Given the description of an element on the screen output the (x, y) to click on. 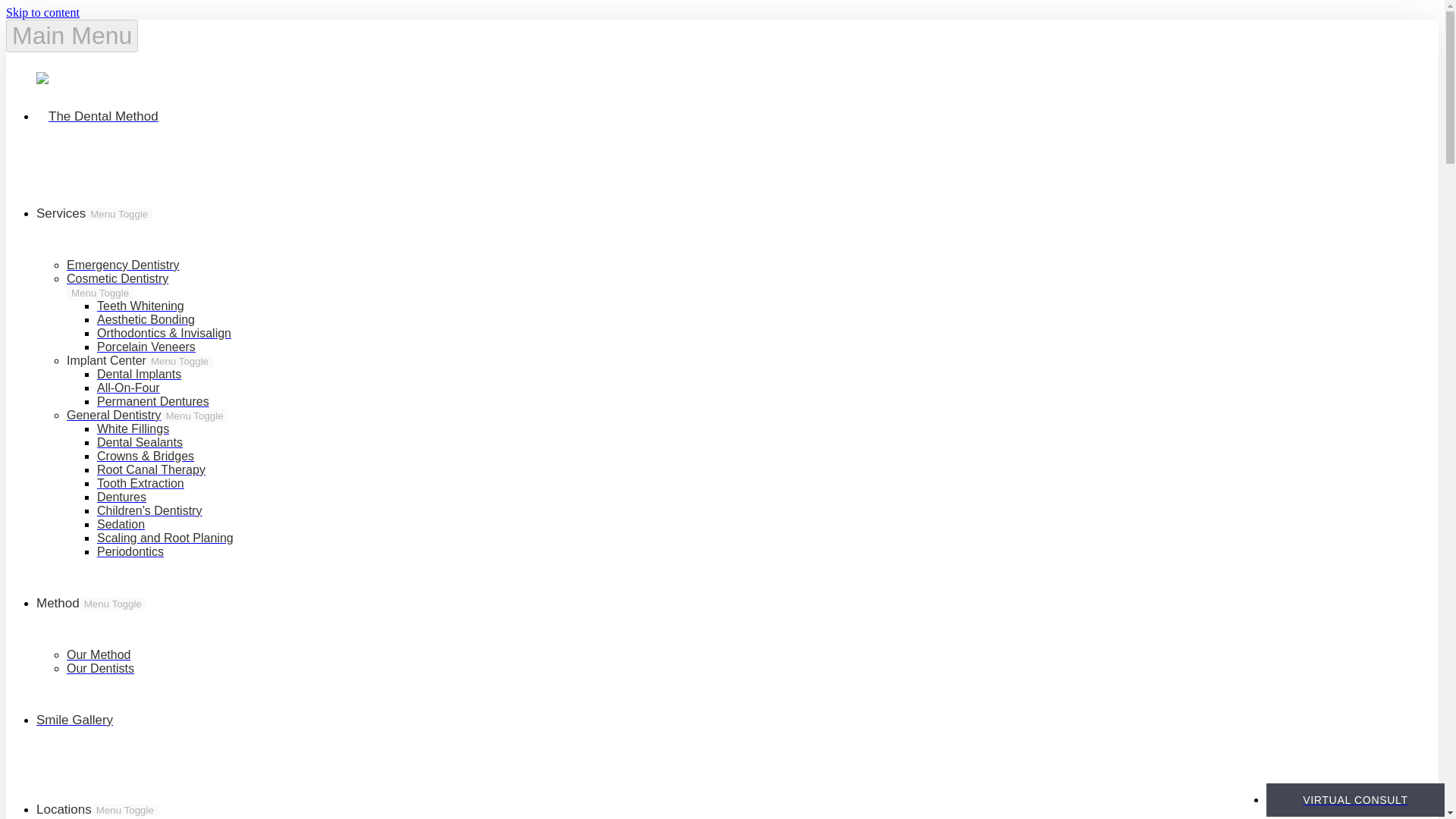
Scaling and Root Planing (164, 538)
Dental Sealants (140, 442)
Skip to content (42, 11)
General Dentistry (113, 415)
Smile Gallery (74, 719)
All-On-Four (128, 387)
Permanent Dentures (153, 401)
Menu Toggle (99, 292)
Emergency Dentistry (122, 264)
Method (58, 603)
